Given the description of an element on the screen output the (x, y) to click on. 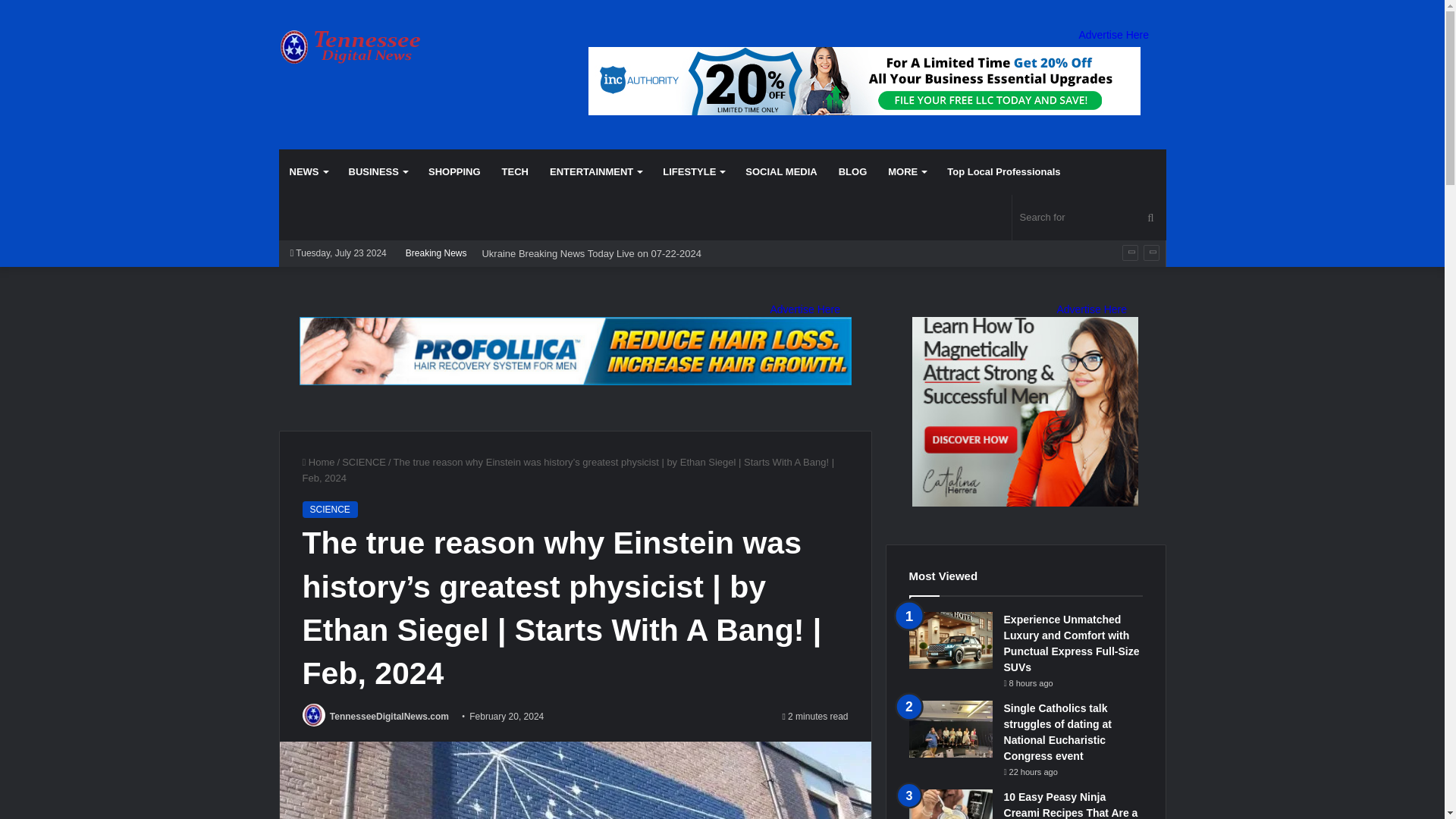
SCIENCE (363, 461)
Home (317, 461)
SHOPPING (454, 171)
LIFESTYLE (693, 171)
Ukraine Breaking News Today Live on 07-22-2024 (591, 253)
Top Local Professionals (1003, 171)
MORE (906, 171)
ENTERTAINMENT (595, 171)
TennesseeDigitalNews.com (389, 716)
BUSINESS (377, 171)
tennesseedigitalnews (360, 46)
TennesseeDigitalNews.com (389, 716)
NEWS (308, 171)
SOCIAL MEDIA (781, 171)
TECH (515, 171)
